Given the description of an element on the screen output the (x, y) to click on. 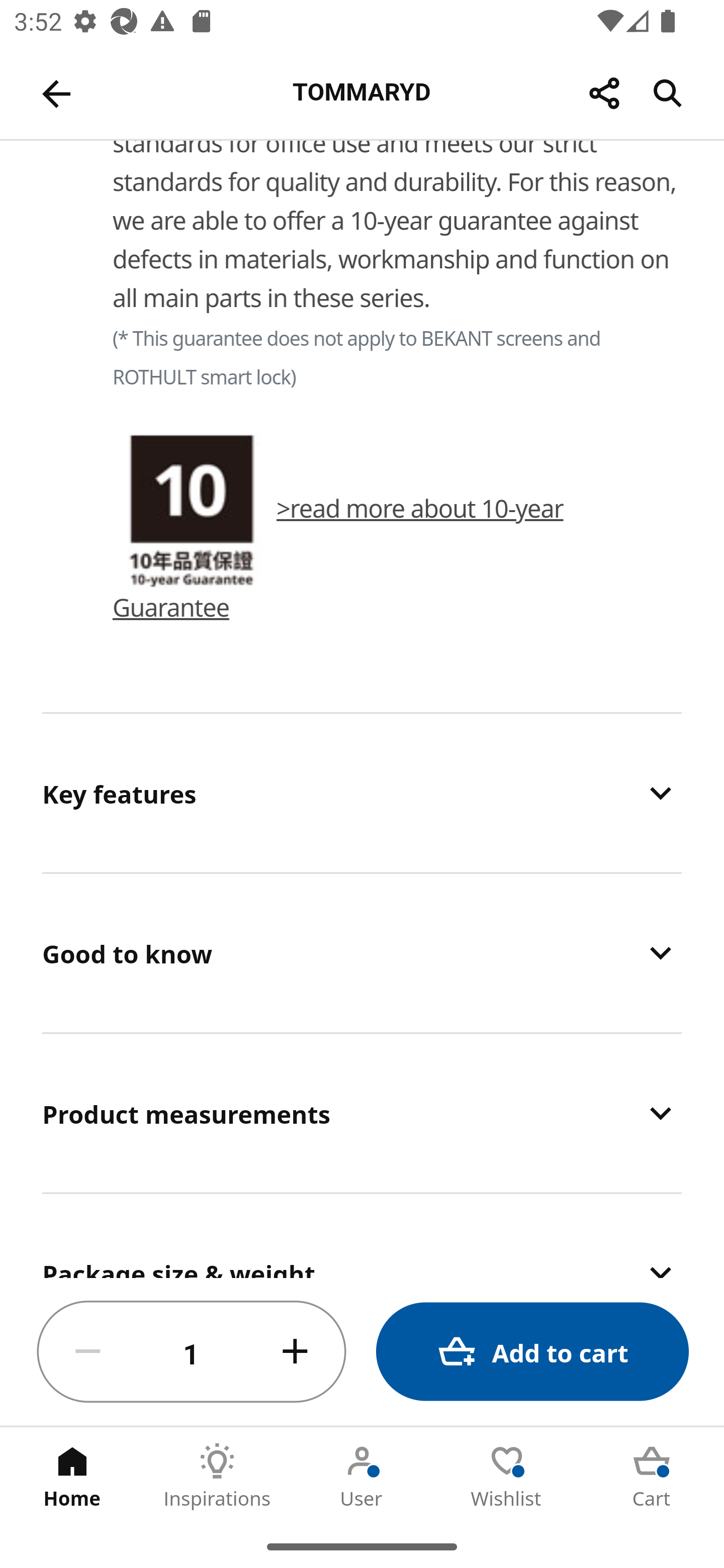
bekant-galant-hallen-guarantee (191, 511)
>read more about 10-year Guarantee (338, 558)
Key features (361, 792)
Good to know (361, 952)
Product measurements (361, 1113)
Add to cart (531, 1352)
1 (191, 1352)
Home
Tab 1 of 5 (72, 1476)
Inspirations
Tab 2 of 5 (216, 1476)
User
Tab 3 of 5 (361, 1476)
Wishlist
Tab 4 of 5 (506, 1476)
Cart
Tab 5 of 5 (651, 1476)
